Given the description of an element on the screen output the (x, y) to click on. 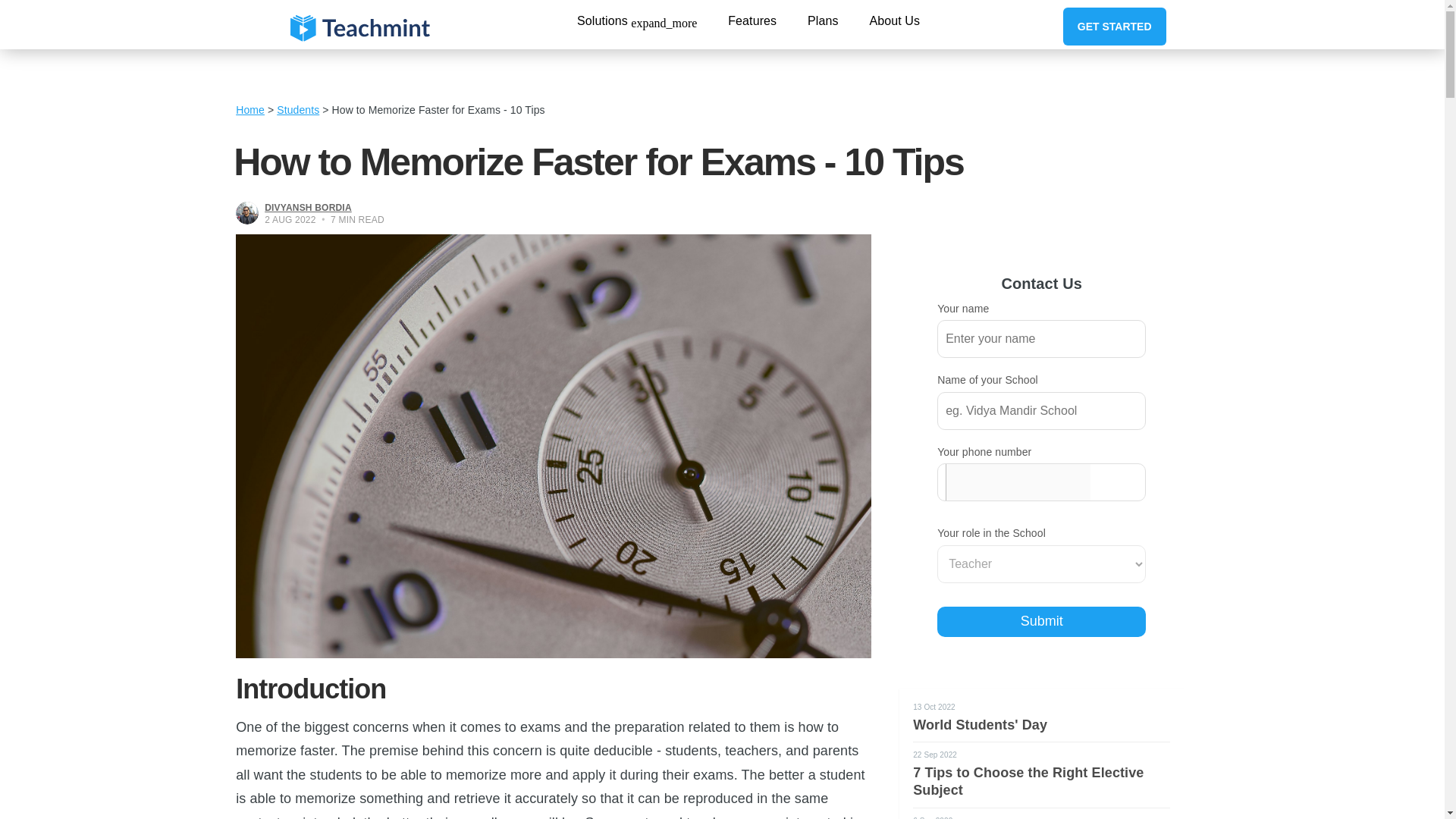
Features (752, 20)
Plans (823, 20)
GET STARTED (1114, 26)
About Us (894, 20)
